Given the description of an element on the screen output the (x, y) to click on. 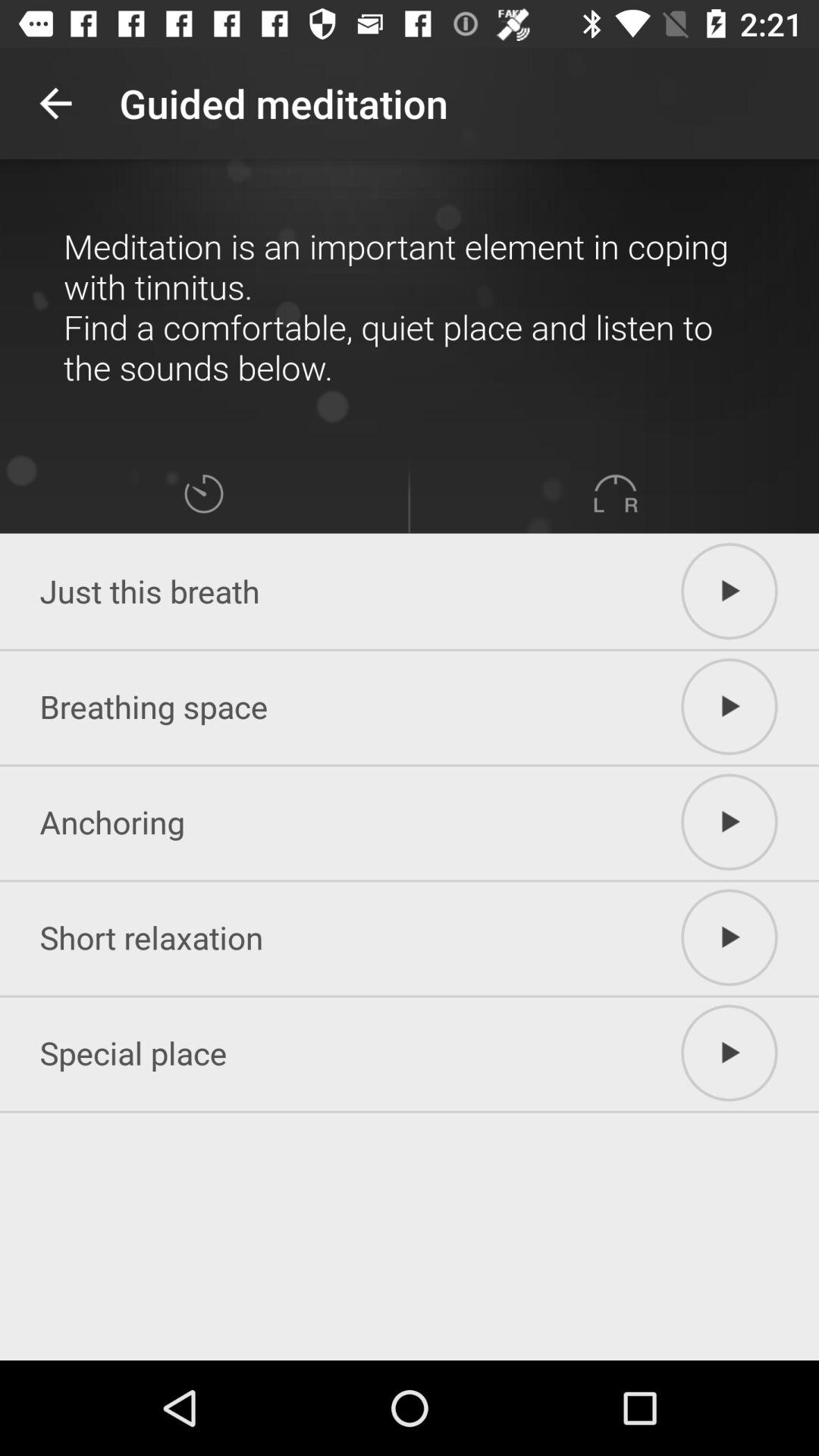
press the app next to guided meditation icon (55, 103)
